Given the description of an element on the screen output the (x, y) to click on. 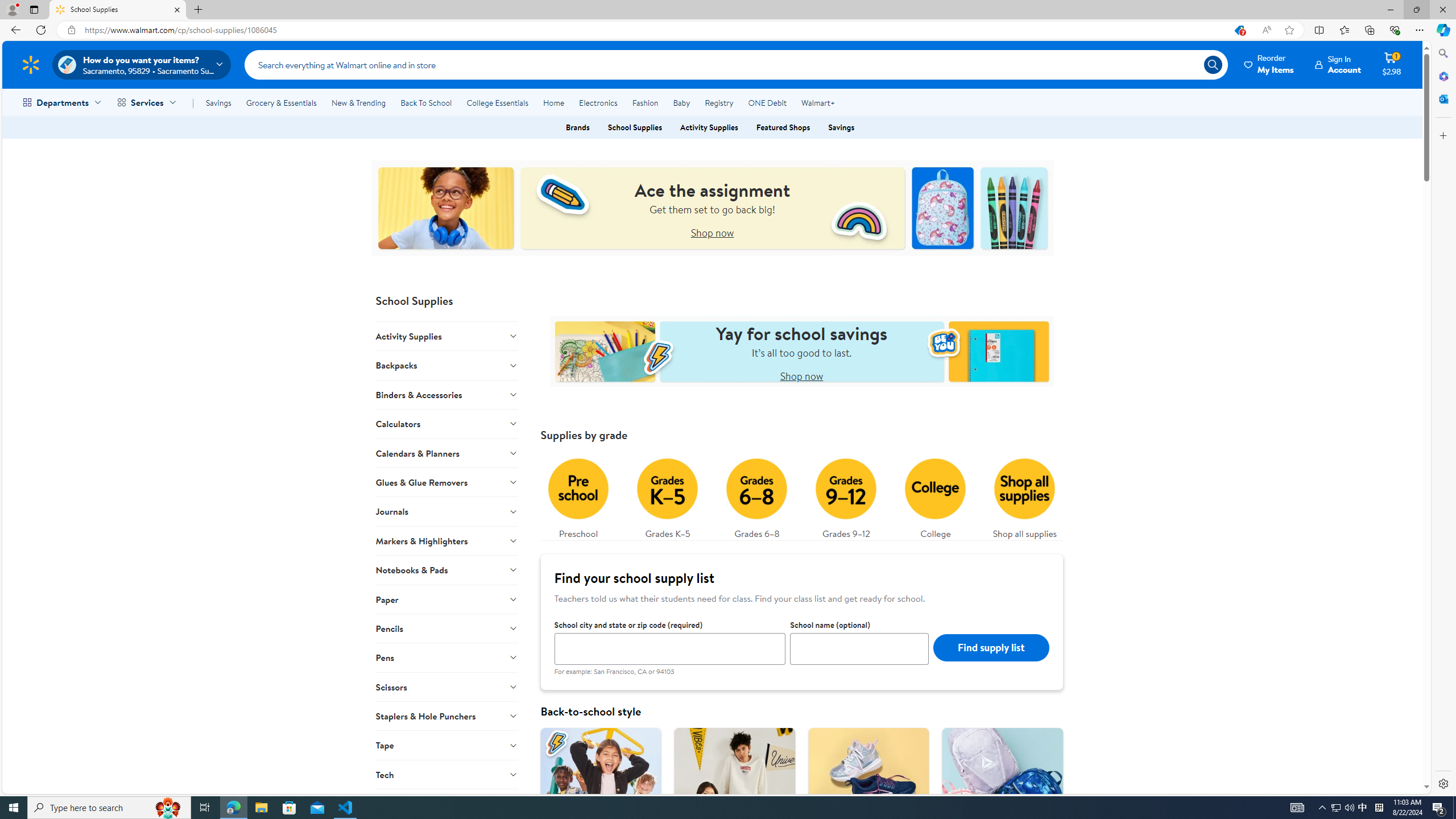
Sign In Account (1338, 64)
Shop all supplies (1024, 495)
Preschool (577, 495)
College Essentials (496, 102)
Staplers & Hole Punchers (446, 715)
College (935, 495)
School Supplies (117, 9)
Find supply list (991, 647)
Glues & Glue Removers (446, 481)
